Given the description of an element on the screen output the (x, y) to click on. 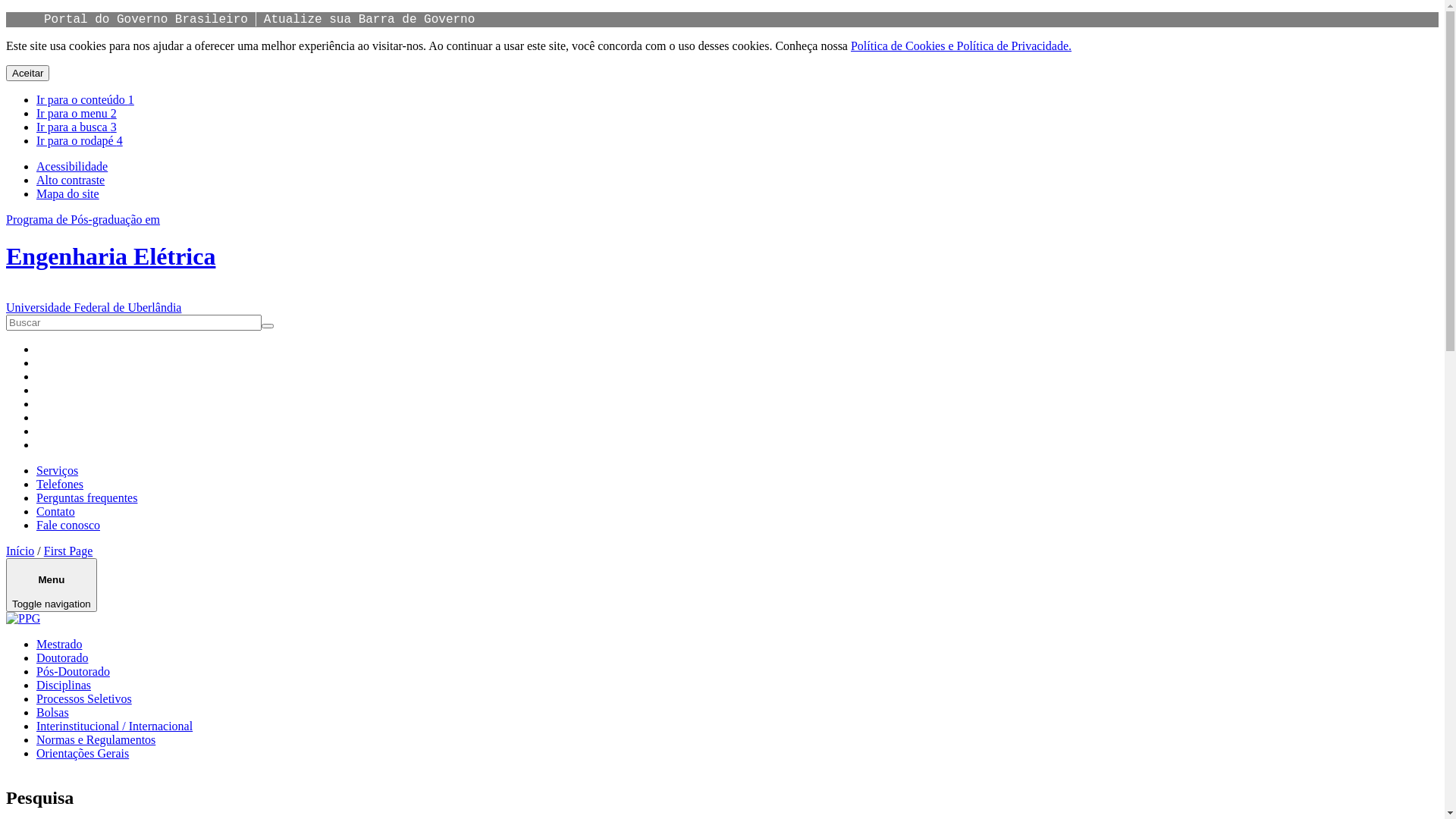
Acessibilidade Element type: text (71, 166)
Menu
Toggle navigation Element type: text (51, 584)
Disciplinas Element type: text (63, 684)
Bolsas Element type: text (52, 712)
Doutorado Element type: text (61, 657)
Normas e Regulamentos Element type: text (95, 739)
Fale conosco Element type: text (68, 524)
Ir para o menu 2 Element type: text (76, 112)
Telefones Element type: text (59, 483)
Contato Element type: text (55, 511)
Perguntas frequentes Element type: text (86, 497)
Buscar Element type: text (27, 332)
First Page Element type: text (67, 550)
Processos Seletivos Element type: text (83, 698)
Mestrado Element type: text (58, 643)
Portal do Governo Brasileiro Element type: text (145, 19)
PNG Element type: hover (23, 618)
Alto contraste Element type: text (70, 179)
Ir para a busca 3 Element type: text (76, 126)
Aceitar Element type: text (27, 73)
Interinstitucional / Internacional Element type: text (114, 725)
Mapa do site Element type: text (67, 193)
Atualize sua Barra de Governo Element type: text (368, 19)
